Given the description of an element on the screen output the (x, y) to click on. 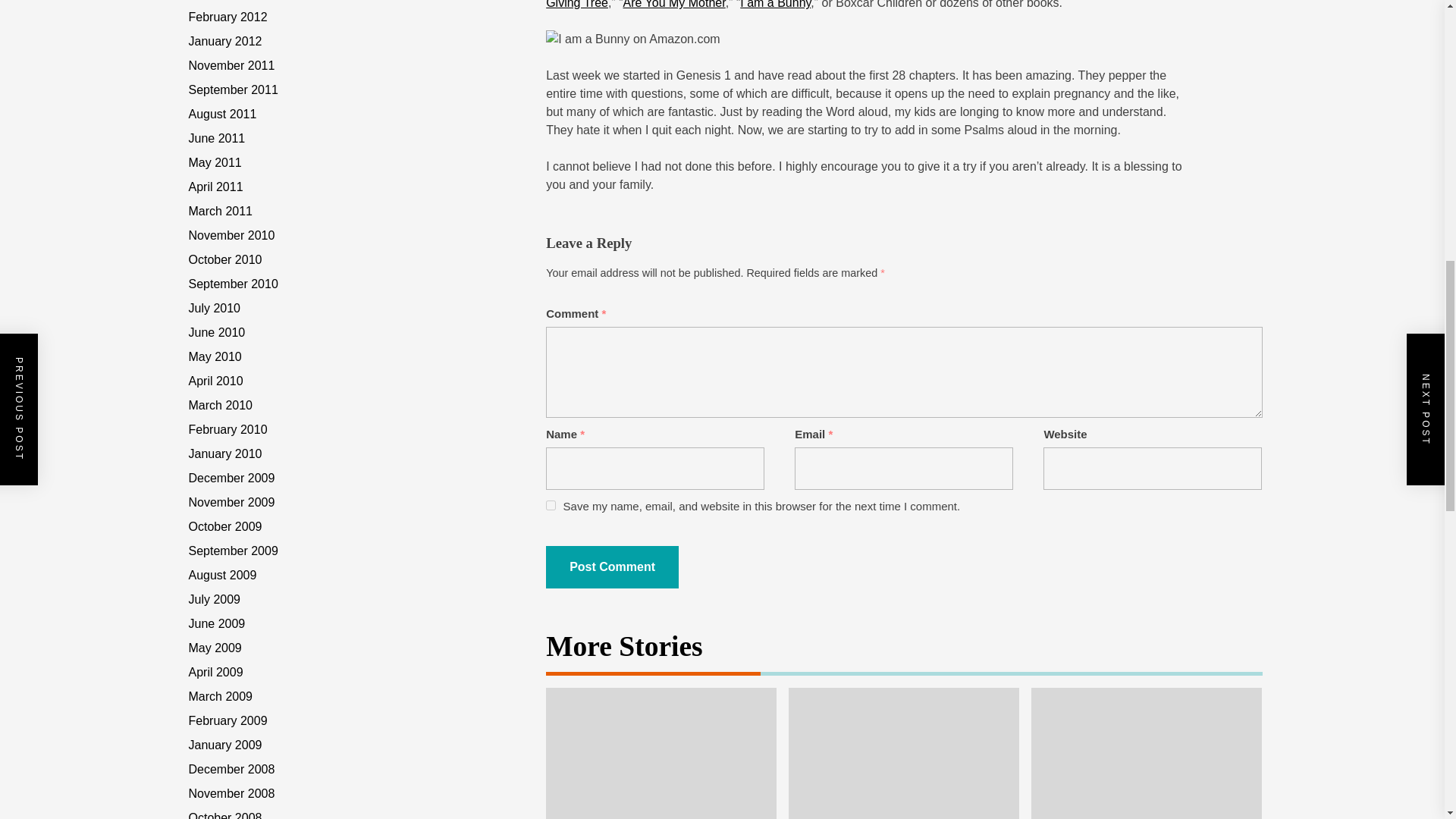
Post Comment (612, 567)
The Giving Tree (861, 4)
Post Comment (612, 567)
Are You My Mother (674, 4)
I am a Bunny (774, 4)
yes (551, 505)
